Given the description of an element on the screen output the (x, y) to click on. 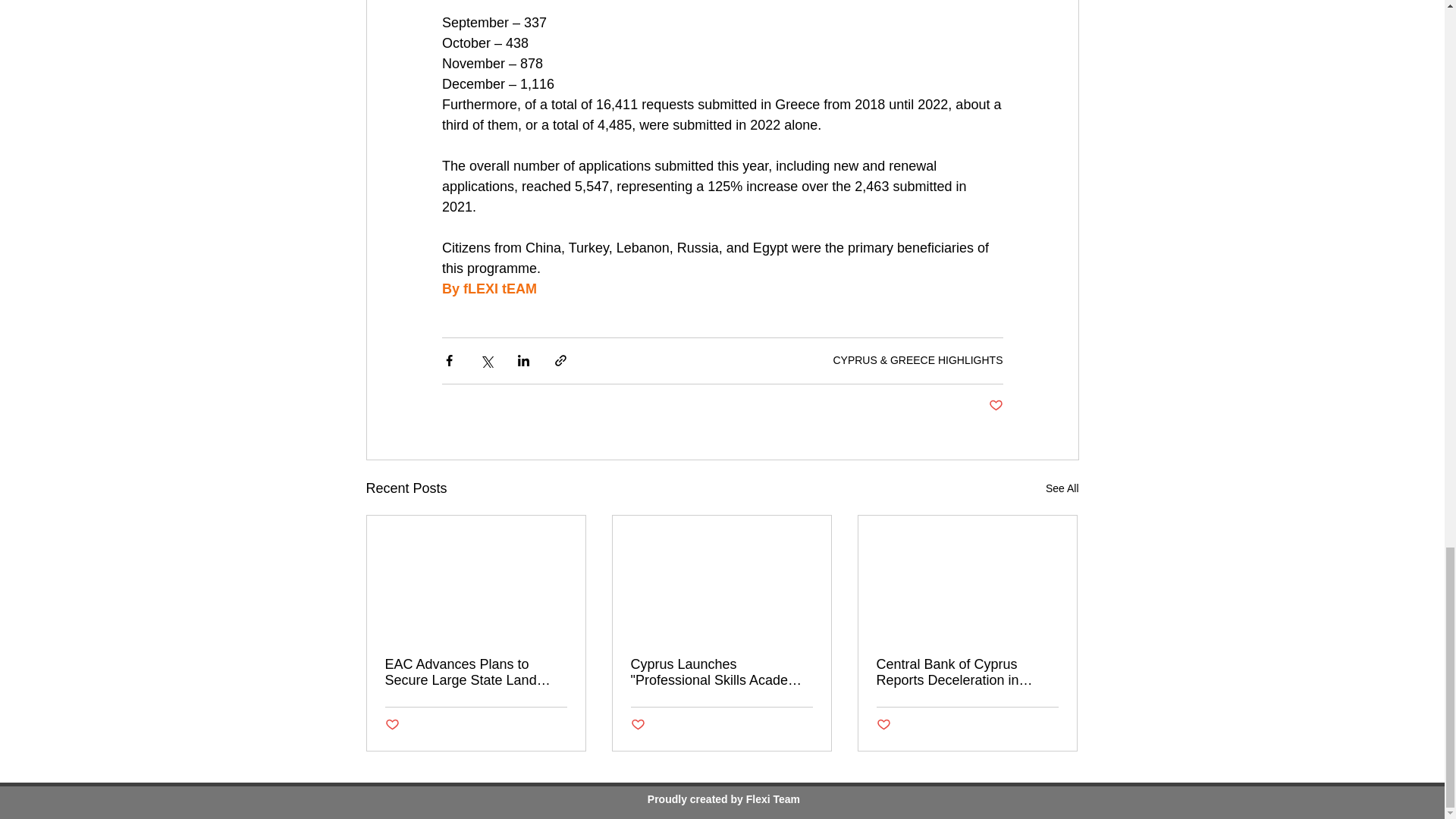
See All (1061, 488)
Post not marked as liked (883, 725)
Post not marked as liked (995, 406)
Post not marked as liked (391, 725)
Post not marked as liked (637, 725)
